Given the description of an element on the screen output the (x, y) to click on. 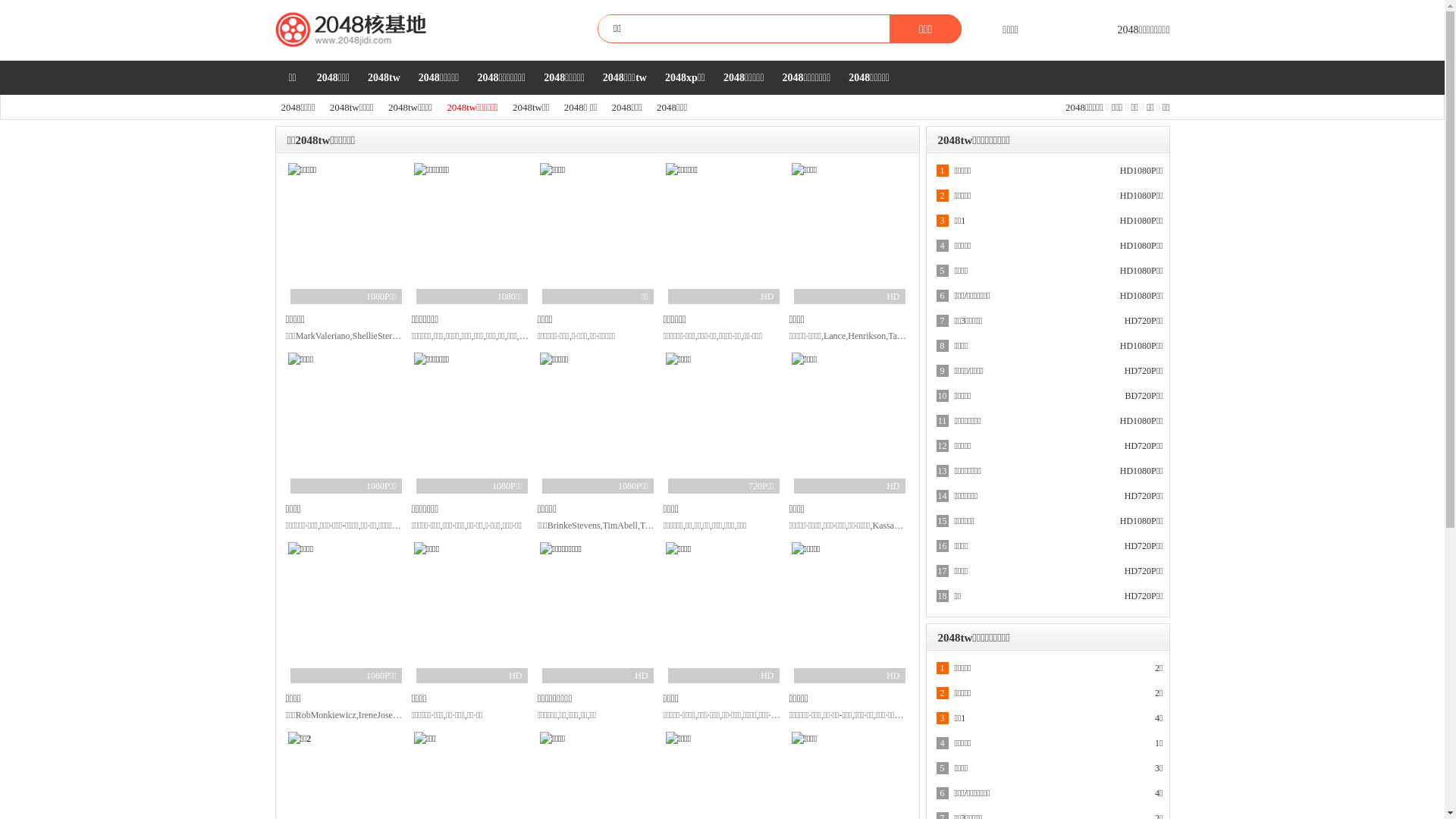
2048tw Element type: text (383, 77)
